Given the description of an element on the screen output the (x, y) to click on. 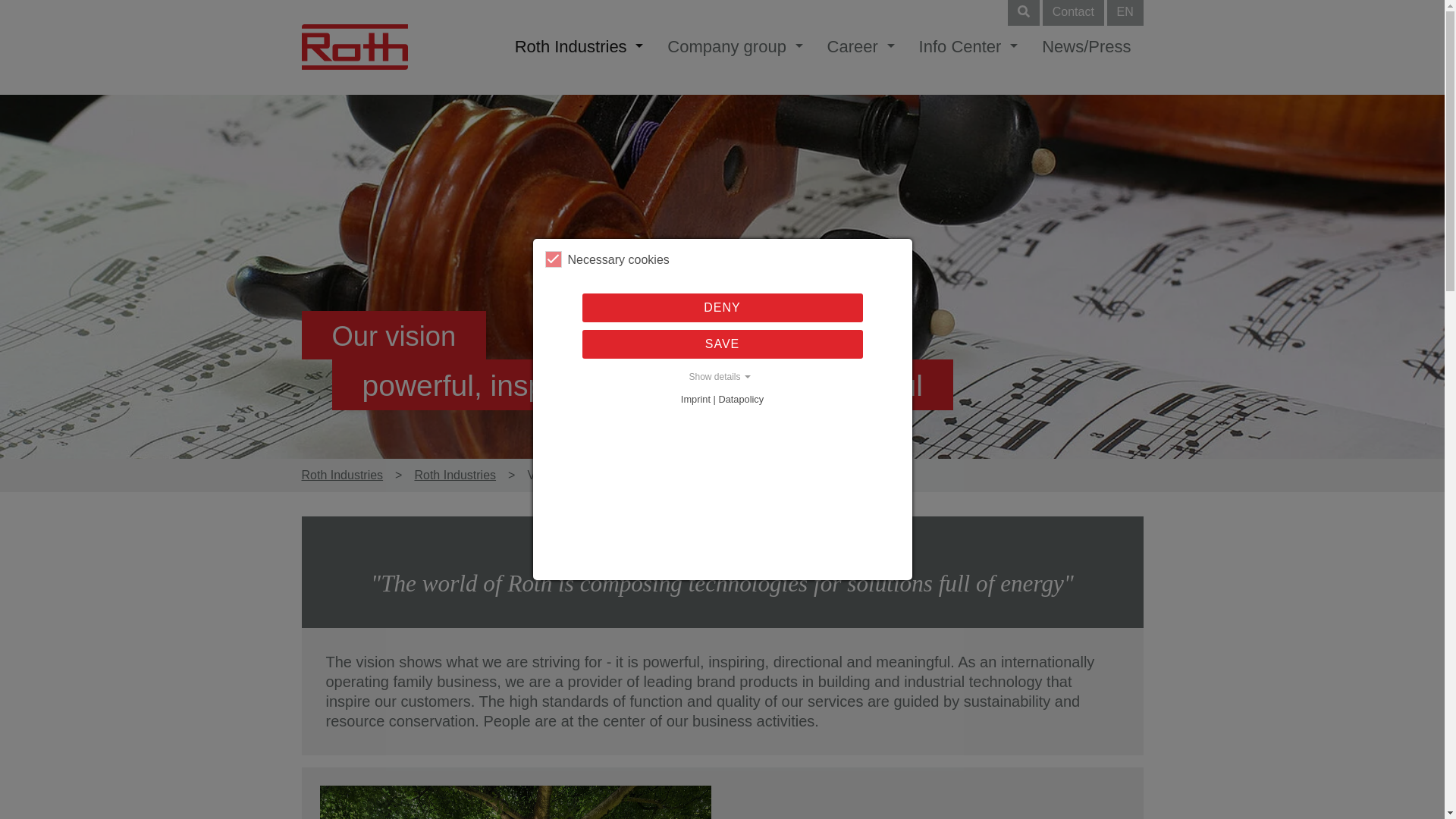
Roth Industries (579, 47)
Contact (1072, 12)
Roth Industries (579, 47)
Career (861, 47)
Roth Industries (454, 475)
Company group (734, 47)
EN (1124, 12)
Info Center (968, 47)
Company group (734, 47)
Roth Industries (342, 475)
